Given the description of an element on the screen output the (x, y) to click on. 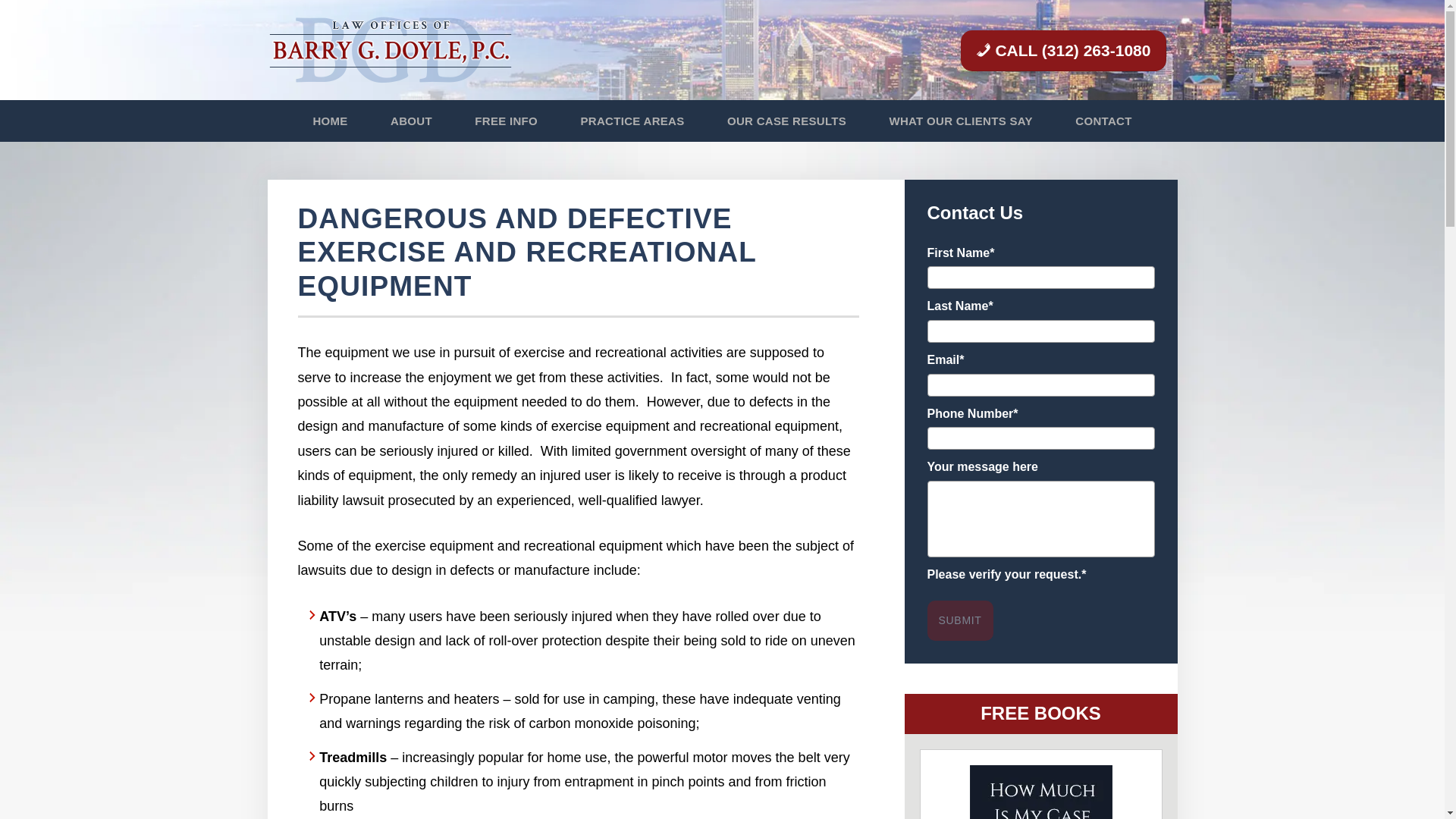
ABOUT (411, 120)
The Law Offices of Barry G. Doyle, P.C. (403, 50)
HOME (329, 120)
FREE INFO (505, 120)
PRACTICE AREAS (632, 120)
